Given the description of an element on the screen output the (x, y) to click on. 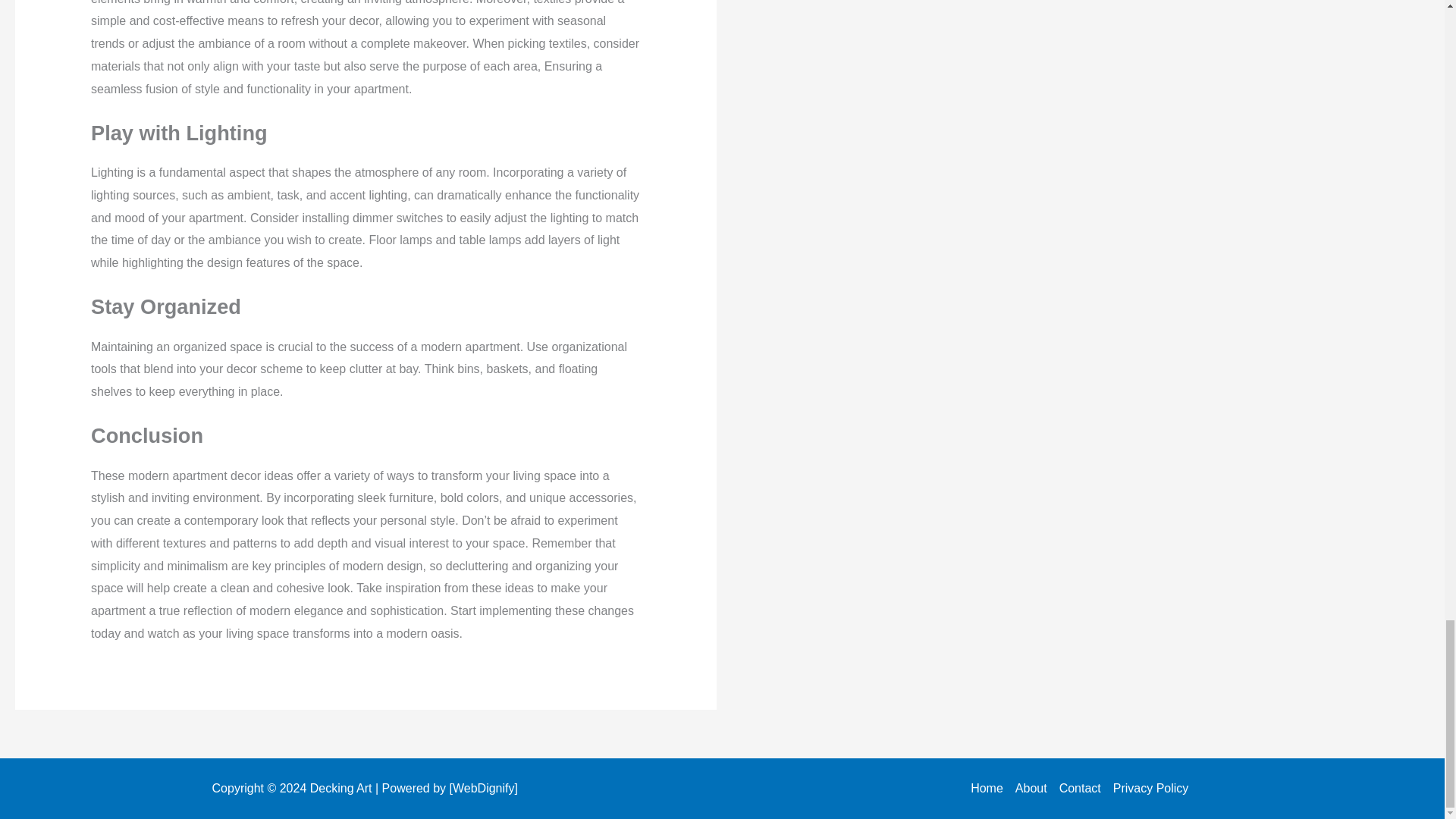
WebDignify (483, 788)
Home (990, 788)
